Given the description of an element on the screen output the (x, y) to click on. 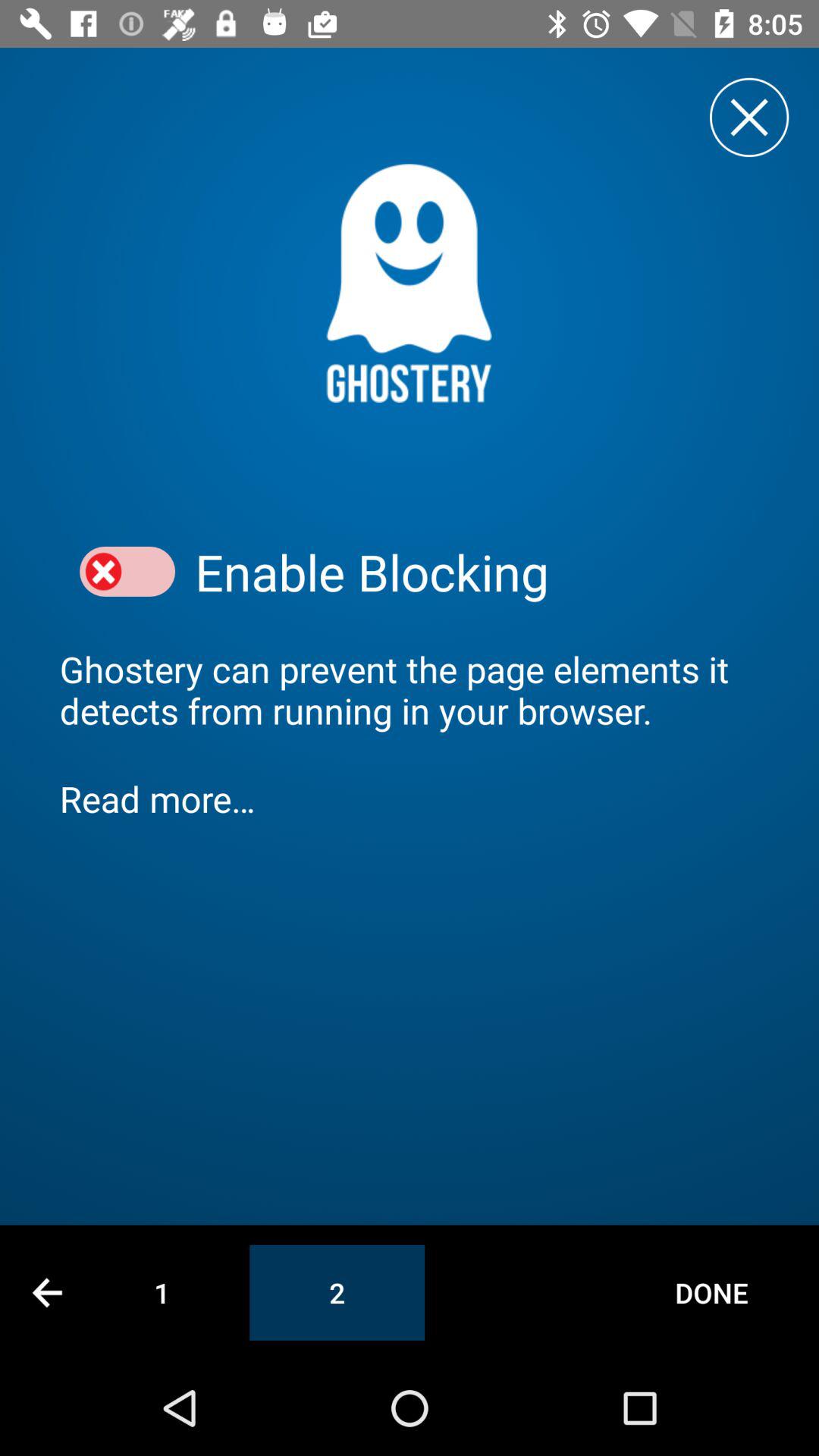
close (749, 117)
